Given the description of an element on the screen output the (x, y) to click on. 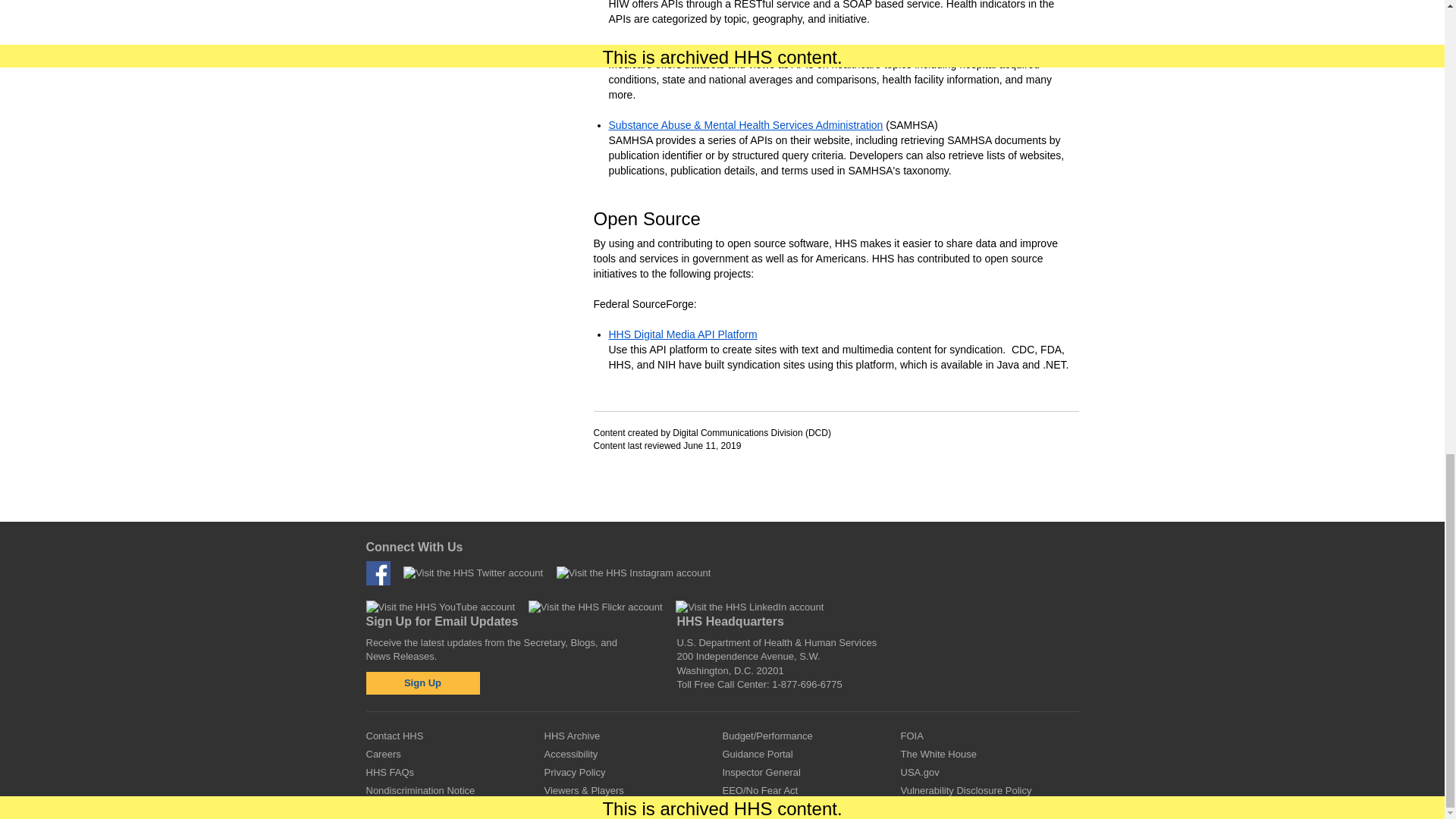
Visit the HHS YouTube account (440, 607)
Visit the HHS Flickr account (595, 607)
Visit the HHS LinkedIn account (749, 607)
Visit the HHS Facebook account (377, 573)
Visit the HHS Twitter account (473, 573)
Visit the HHS Instagram account (633, 573)
